Given the description of an element on the screen output the (x, y) to click on. 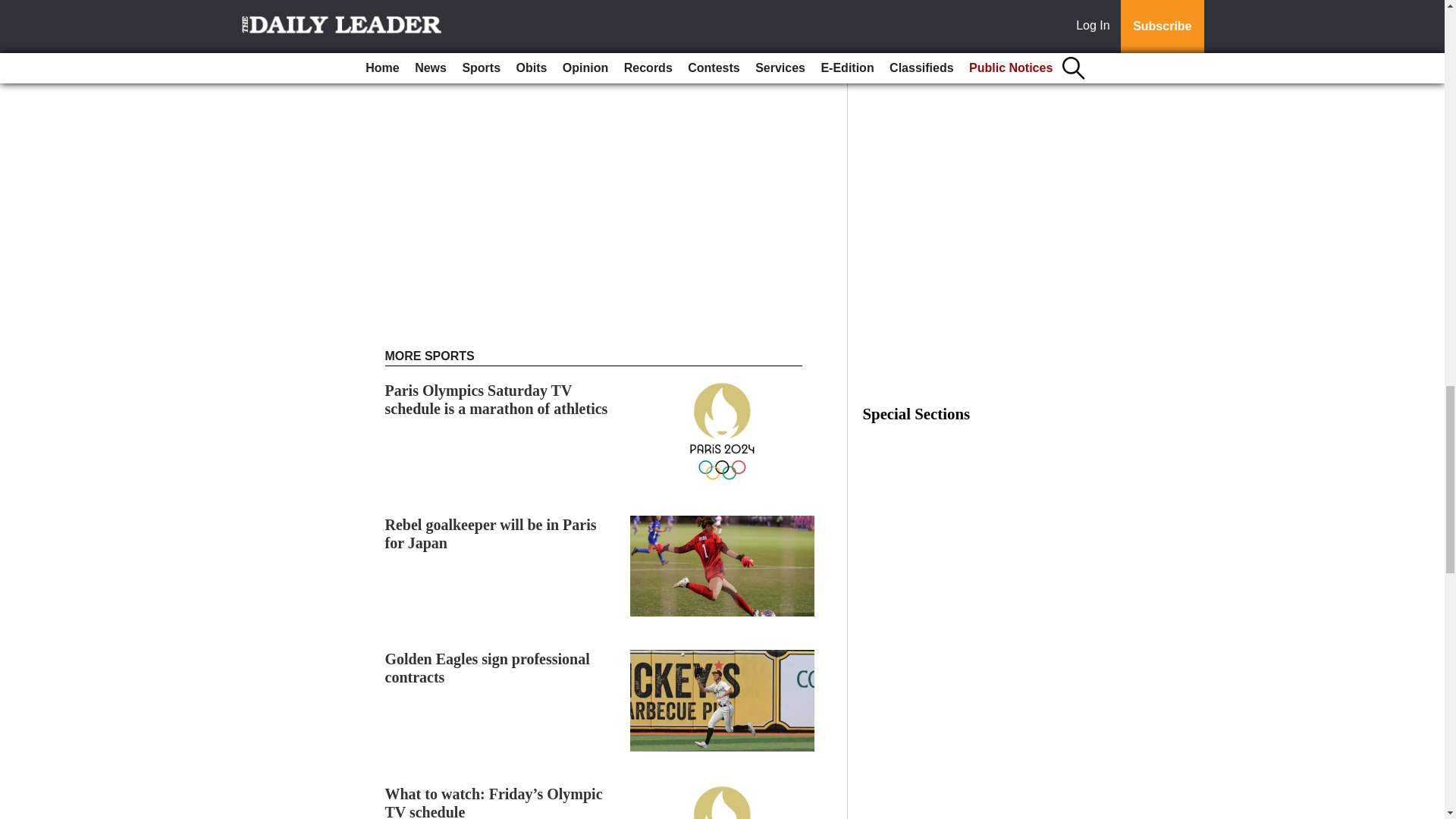
Rebel goalkeeper will be in Paris for Japan (490, 533)
Golden Eagles sign professional contracts (487, 667)
Rebel goalkeeper will be in Paris for Japan (490, 533)
Golden Eagles sign professional contracts (487, 667)
